Given the description of an element on the screen output the (x, y) to click on. 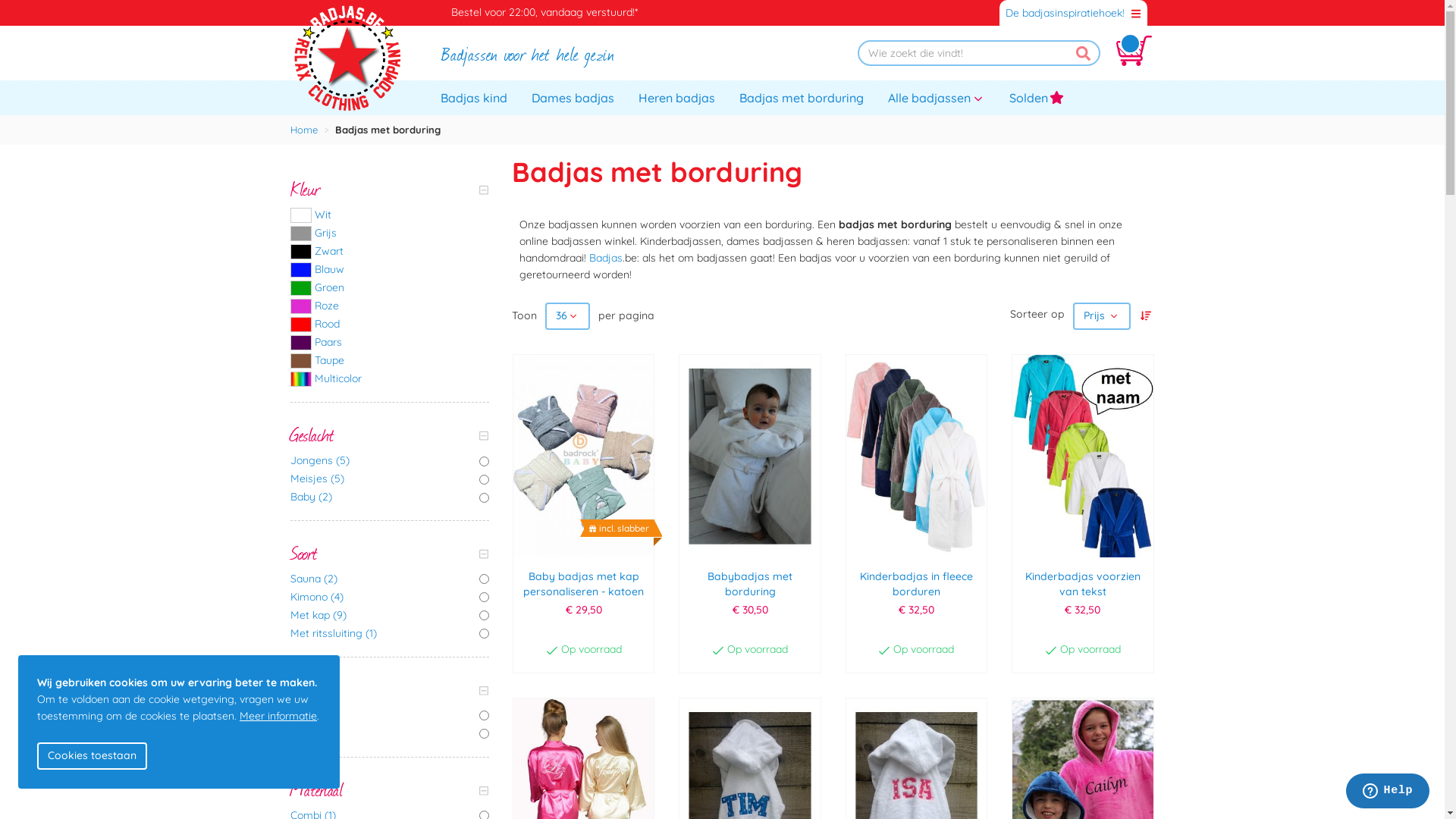
Home Element type: text (302, 129)
Met ritssluiting
1 Element type: text (389, 633)
Kimono
4 Element type: text (389, 597)
Badjas kind Element type: text (473, 97)
Badjas.be Element type: hover (346, 55)
Zwart Element type: text (389, 251)
Groen Element type: text (389, 287)
Alle badjassen Element type: text (936, 97)
Met kap
9 Element type: text (389, 615)
Baby badjas met kap personaliseren - katoen Element type: text (583, 585)
Rood Element type: text (389, 324)
Kinderbadjas in fleece borduren Element type: text (916, 585)
Bestel voor 22:00, vandaag verstuurd!* Element type: text (541, 12)
Meer informatie Element type: text (277, 715)
Opens a widget where you can chat to one of our agents Element type: hover (1387, 792)
incl. slabber Element type: text (583, 455)
Baby
2 Element type: text (389, 497)
Kort
2 Element type: text (389, 715)
Jongens
5 Element type: text (389, 460)
Van hoog naar laag sorteren Element type: hover (1144, 315)
Badjas.be Element type: hover (346, 57)
Babybadjas met borduring Element type: text (749, 585)
Badjas met borduring Element type: text (801, 97)
Kinderbadjas voorzien van tekst Element type: text (1082, 585)
Zoek Element type: hover (1082, 52)
Roze Element type: text (389, 305)
Solden Element type: text (1036, 97)
Lang
12 Element type: text (389, 733)
Paars Element type: text (389, 342)
Prijs Element type: text (1100, 315)
Multicolor Element type: text (389, 378)
Meisjes
5 Element type: text (389, 478)
Sauna
2 Element type: text (389, 578)
Badjas Element type: text (605, 257)
36 Element type: text (567, 315)
Cookies toestaan Element type: text (92, 755)
Grijs Element type: text (389, 233)
Heren badjas Element type: text (676, 97)
Blauw Element type: text (389, 269)
Dames badjas Element type: text (572, 97)
Wit Element type: text (389, 214)
Taupe Element type: text (389, 360)
